Given the description of an element on the screen output the (x, y) to click on. 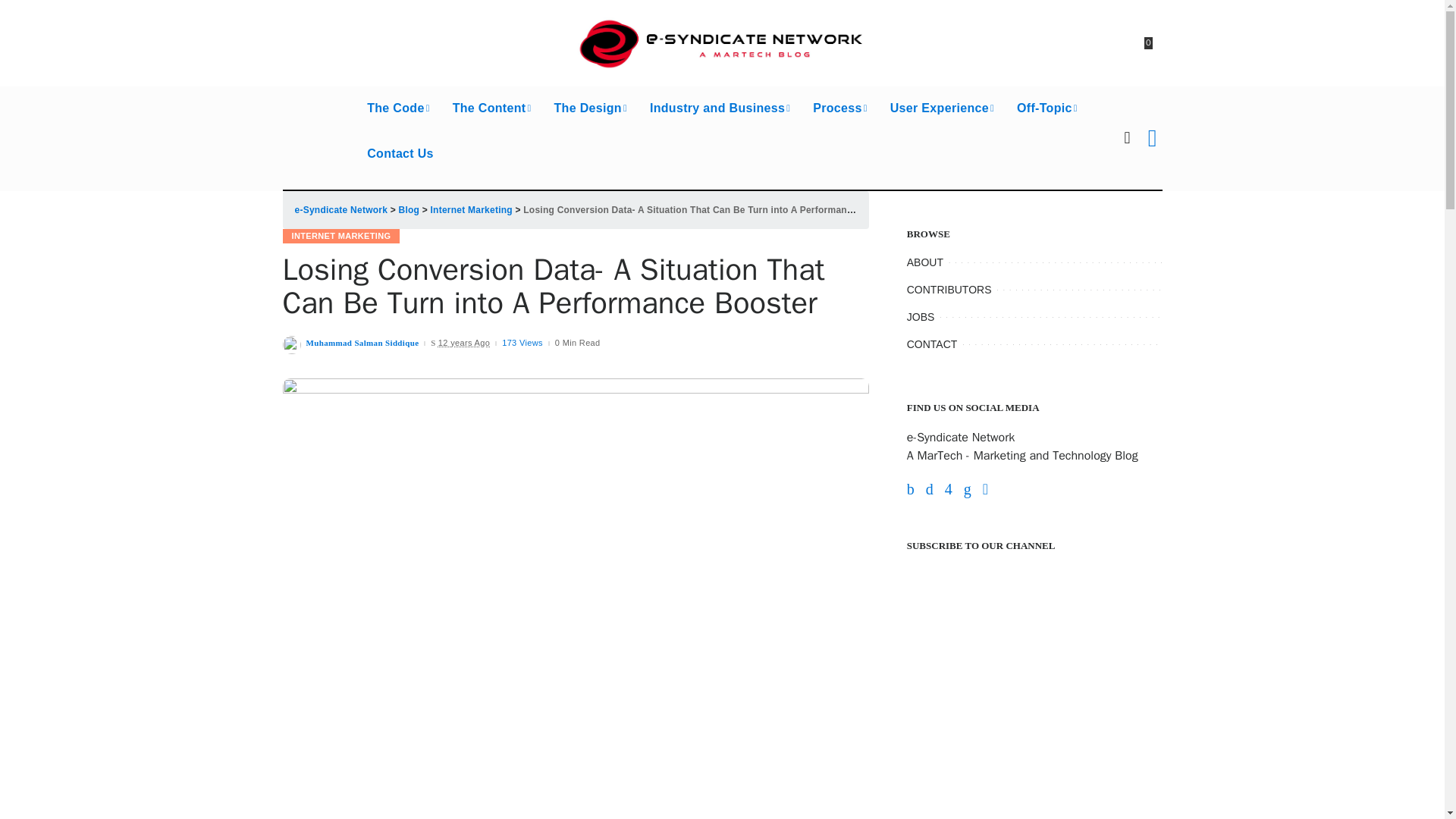
e-Syndicate Network (722, 43)
Go to e-Syndicate Network. (340, 209)
Go to Blog. (409, 209)
Go to the Internet Marketing Category archives. (471, 209)
